Given the description of an element on the screen output the (x, y) to click on. 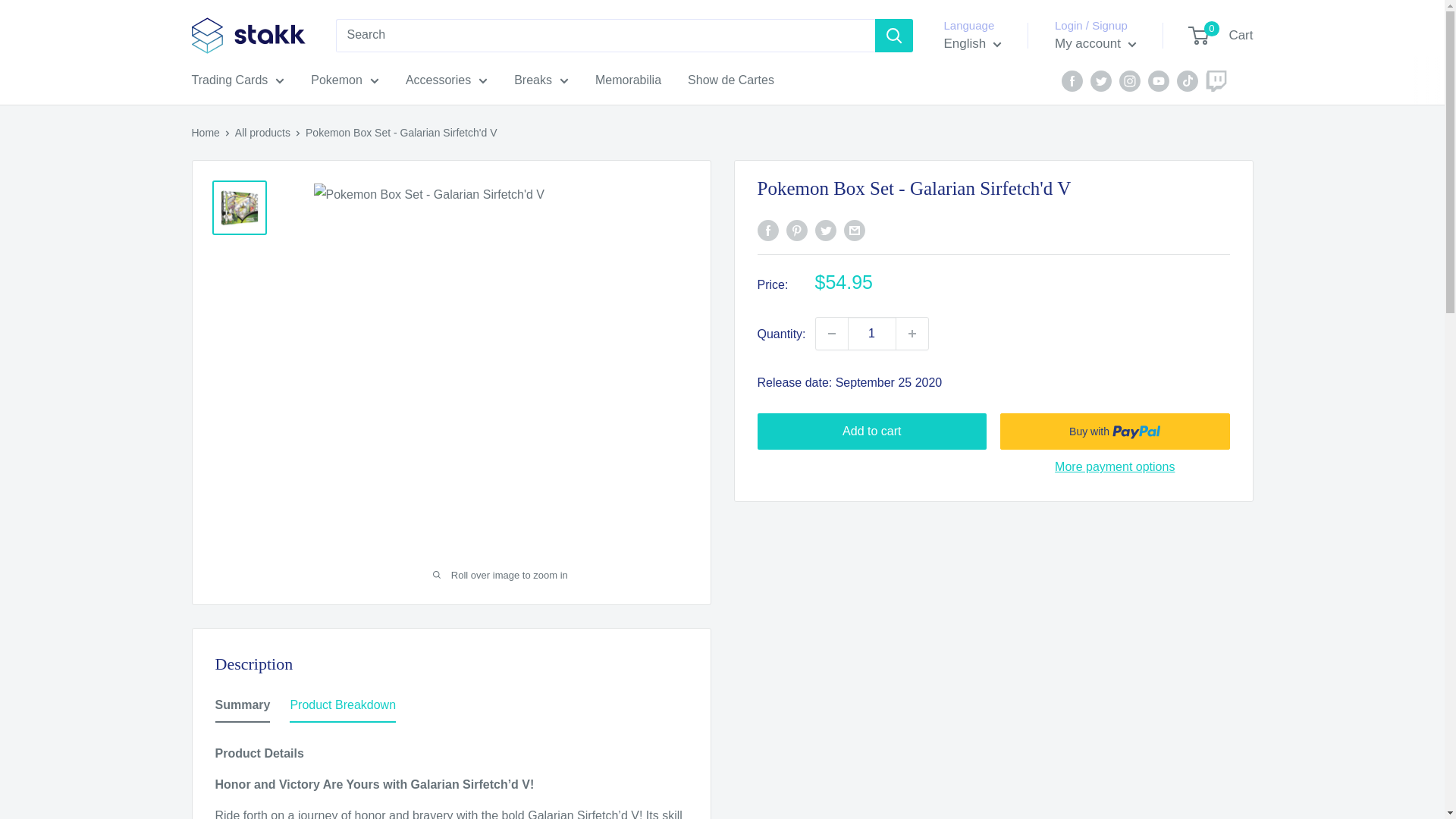
Decrease quantity by 1 (831, 333)
1 (871, 333)
Increase quantity by 1 (912, 333)
